Given the description of an element on the screen output the (x, y) to click on. 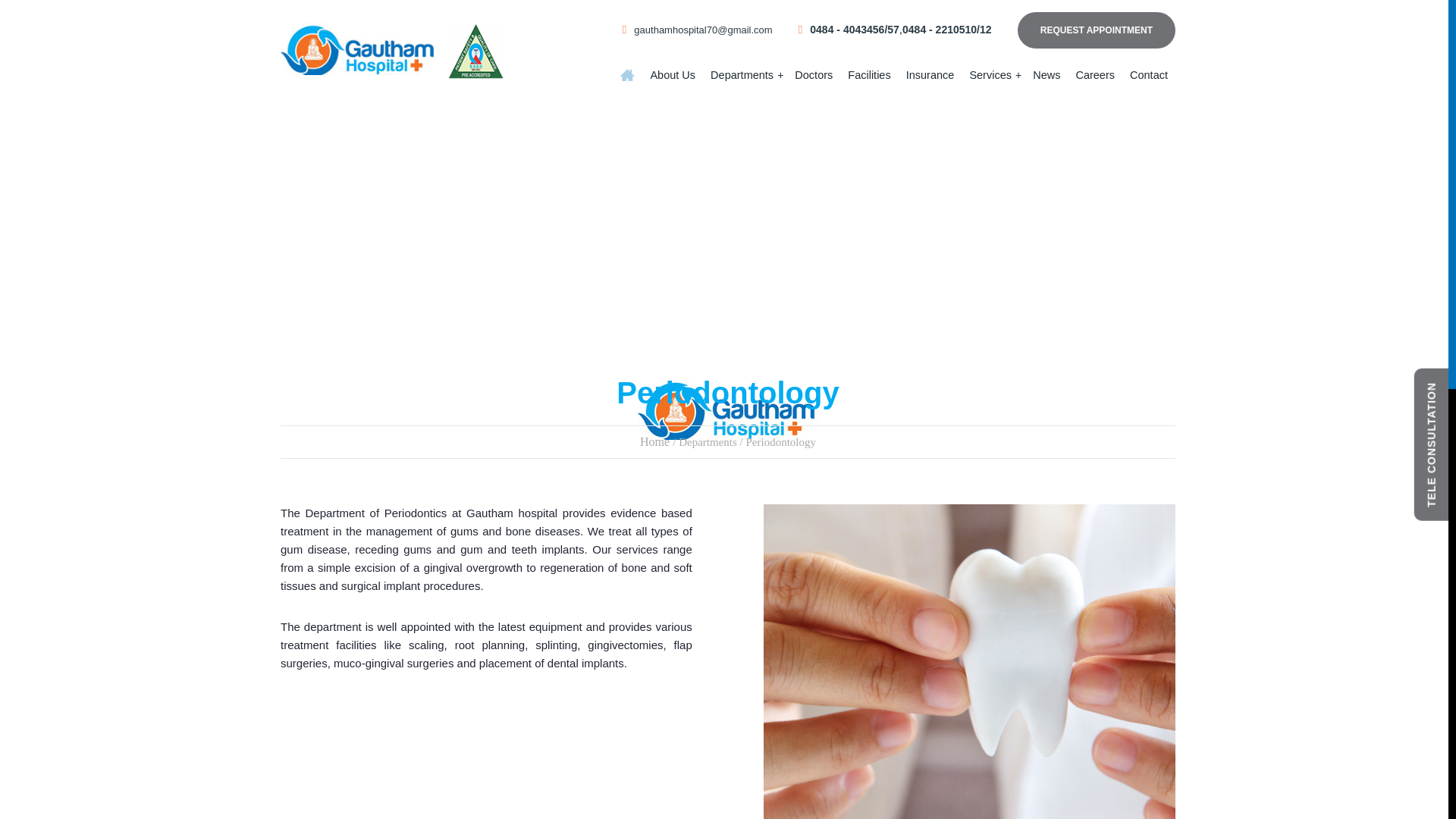
REQUEST APPOINTMENT (1095, 30)
About Us (672, 80)
Doctors (813, 80)
